Given the description of an element on the screen output the (x, y) to click on. 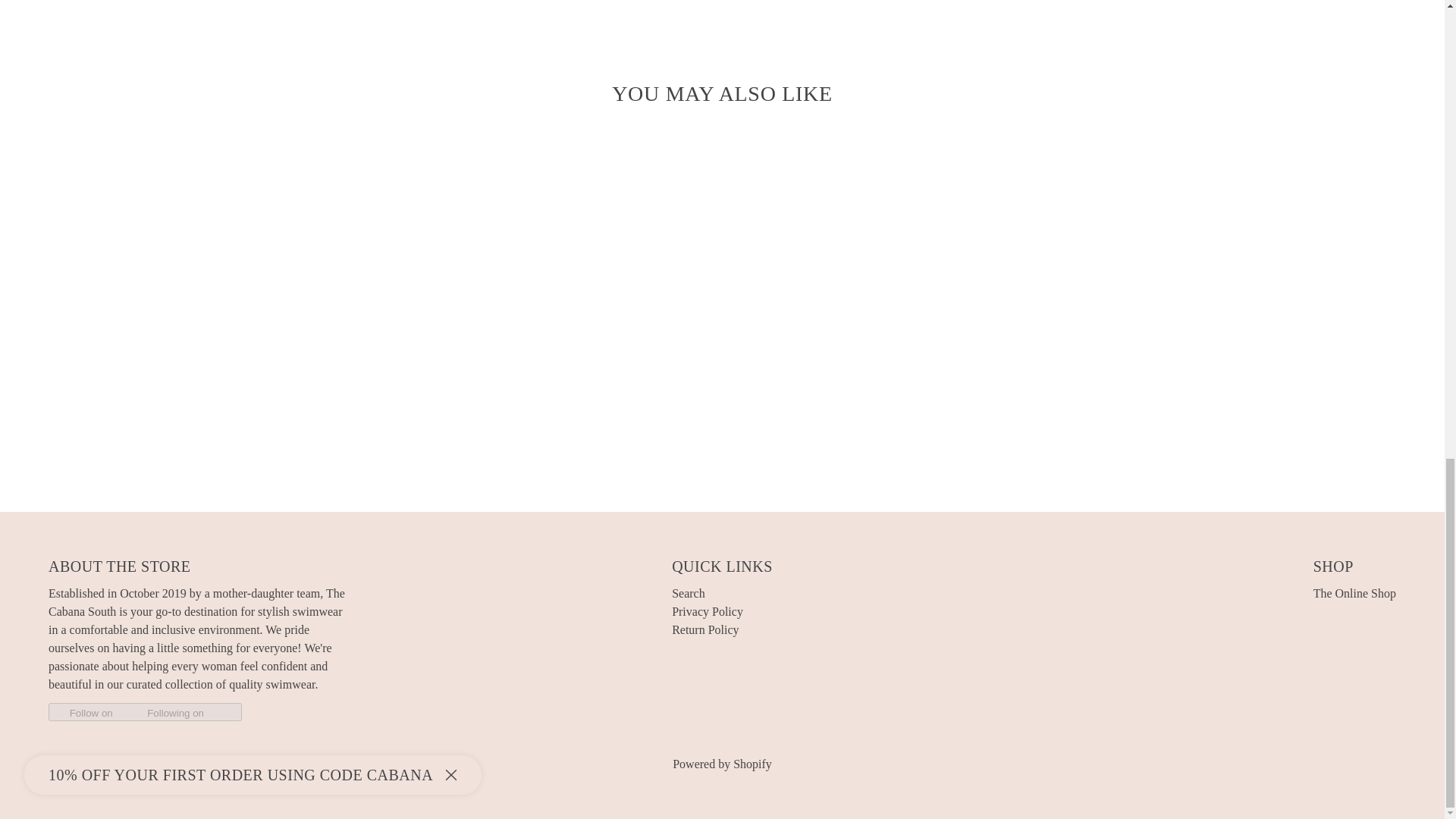
Privacy Policy (706, 611)
The Online Shop (1354, 593)
Return Policy (704, 629)
Search (687, 593)
Return Policy (704, 629)
The Online Shop  (1354, 593)
Privacy Policy (706, 611)
Powered by Shopify (721, 764)
